Given the description of an element on the screen output the (x, y) to click on. 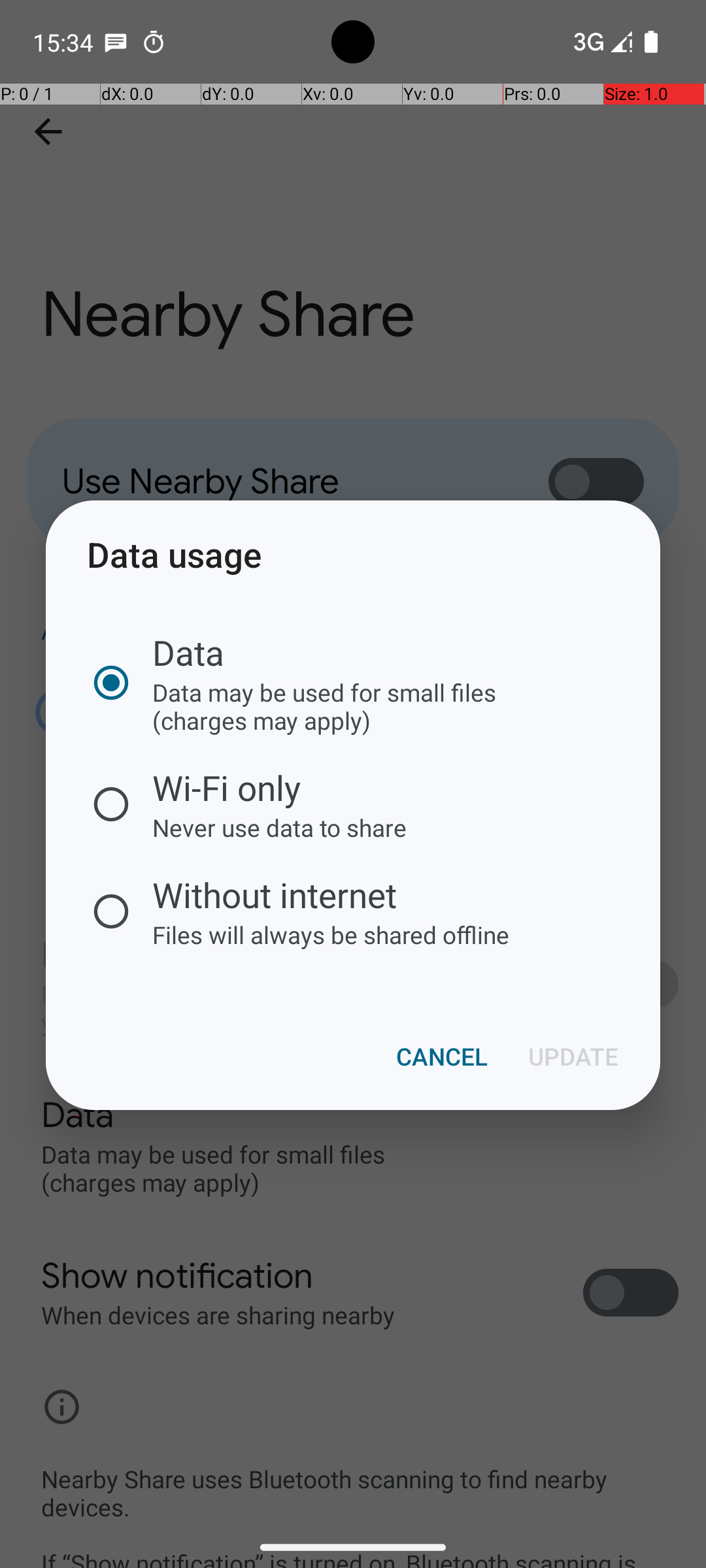
Data usage Element type: android.widget.TextView (352, 554)
Data Element type: android.widget.TextView (330, 652)
Data may be used for small files 
(charges may apply) Element type: android.widget.TextView (330, 705)
Wi-Fi only Element type: android.widget.TextView (330, 787)
Never use data to share Element type: android.widget.TextView (330, 827)
Without internet Element type: android.widget.TextView (330, 894)
Files will always be shared offline Element type: android.widget.TextView (330, 934)
